Given the description of an element on the screen output the (x, y) to click on. 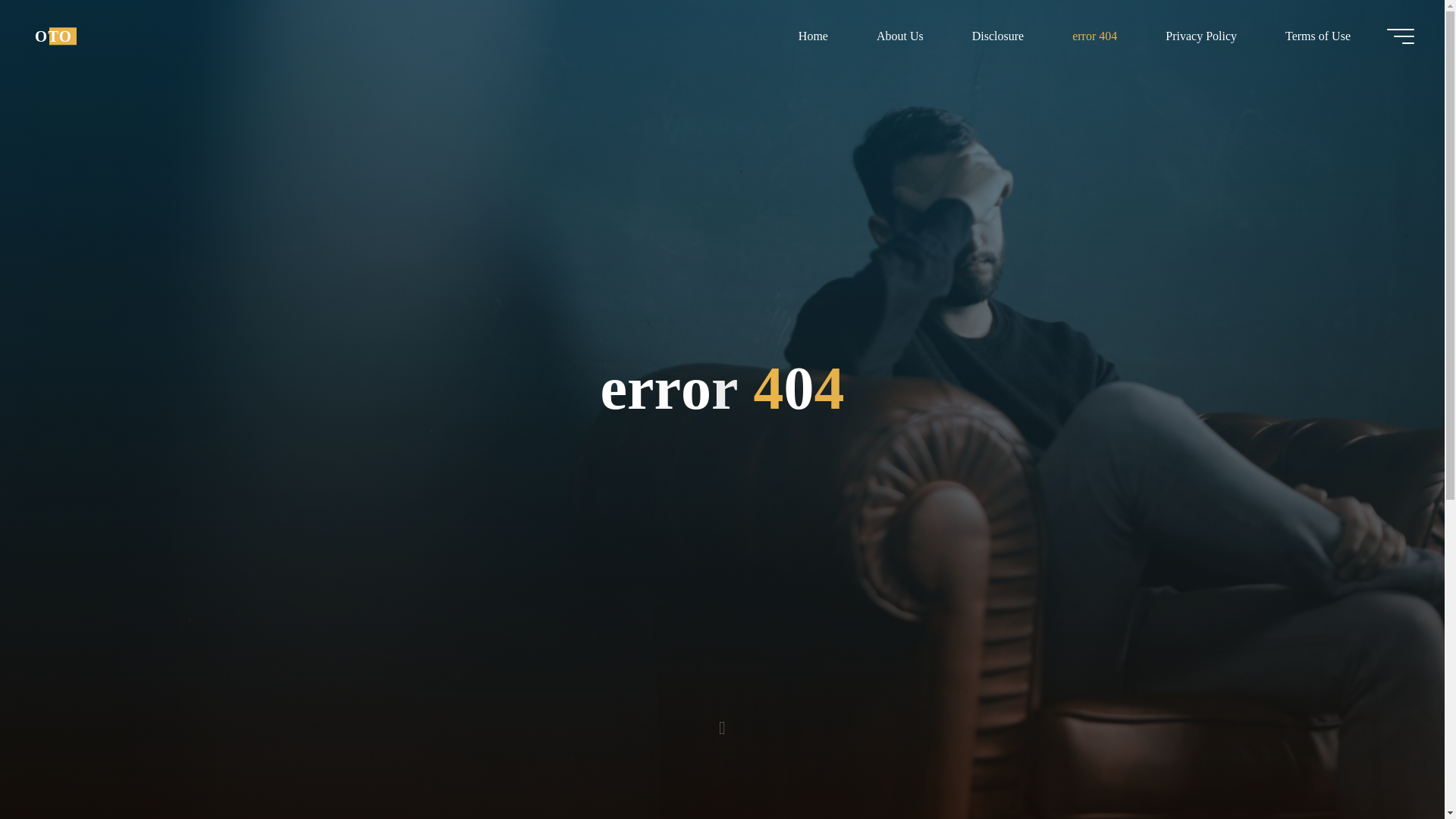
Home (812, 35)
error 404 (1094, 35)
OTO (53, 36)
About Us (899, 35)
Disclosure (997, 35)
Read more (721, 724)
Privacy Policy (1200, 35)
Terms of Use (1317, 35)
